Given the description of an element on the screen output the (x, y) to click on. 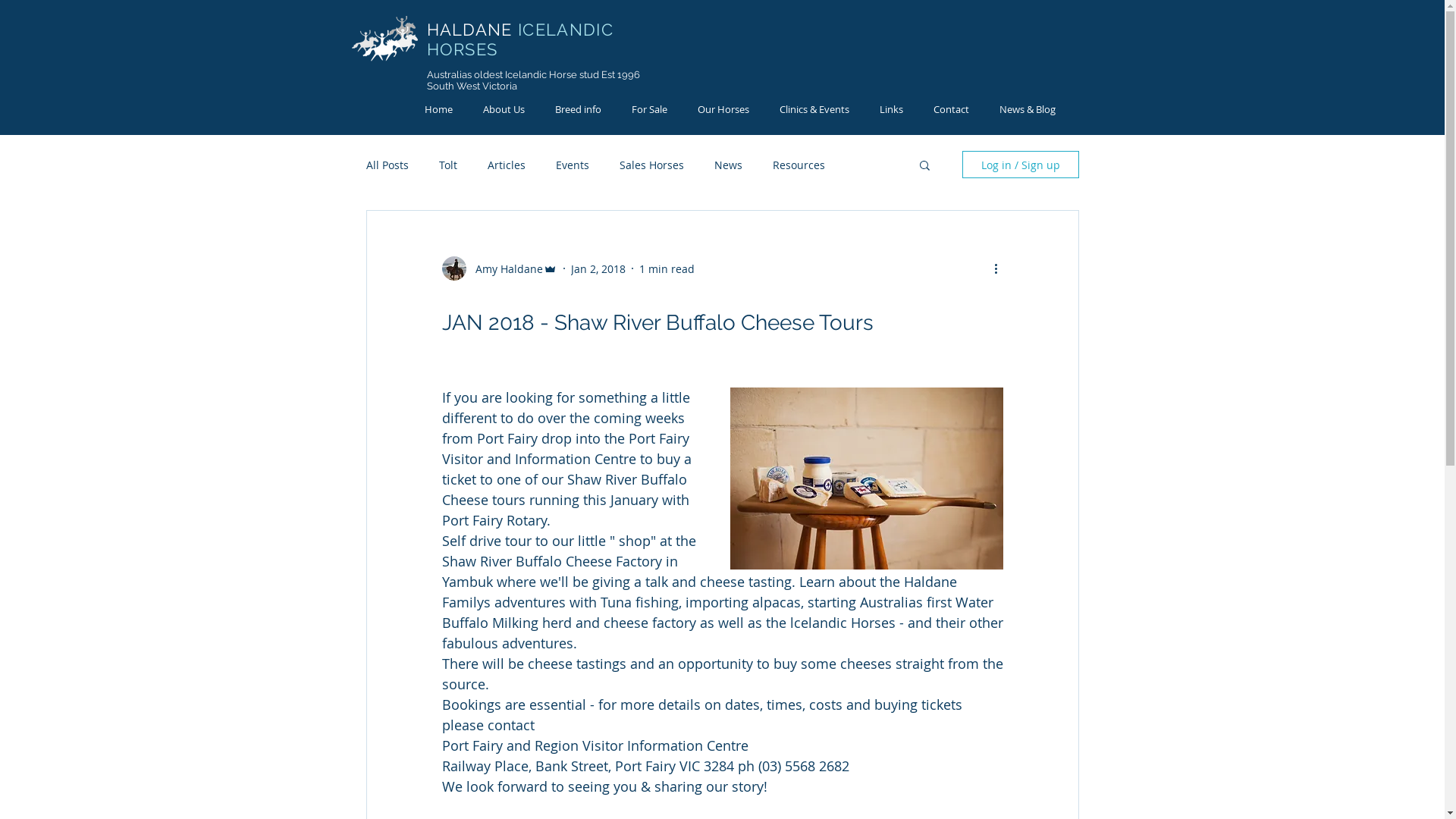
Events Element type: text (571, 164)
Articles Element type: text (505, 164)
Tolt Element type: text (447, 164)
Links Element type: text (891, 109)
HORSES  Element type: text (464, 49)
Log in / Sign up Element type: text (1019, 164)
Contact Element type: text (950, 109)
News Element type: text (728, 164)
Resources Element type: text (797, 164)
Sales Horses Element type: text (650, 164)
News & Blog Element type: text (1027, 109)
HALDANE Element type: text (471, 29)
All Posts Element type: text (386, 164)
ICELANDIC Element type: text (565, 29)
Home Element type: text (438, 109)
